Given the description of an element on the screen output the (x, y) to click on. 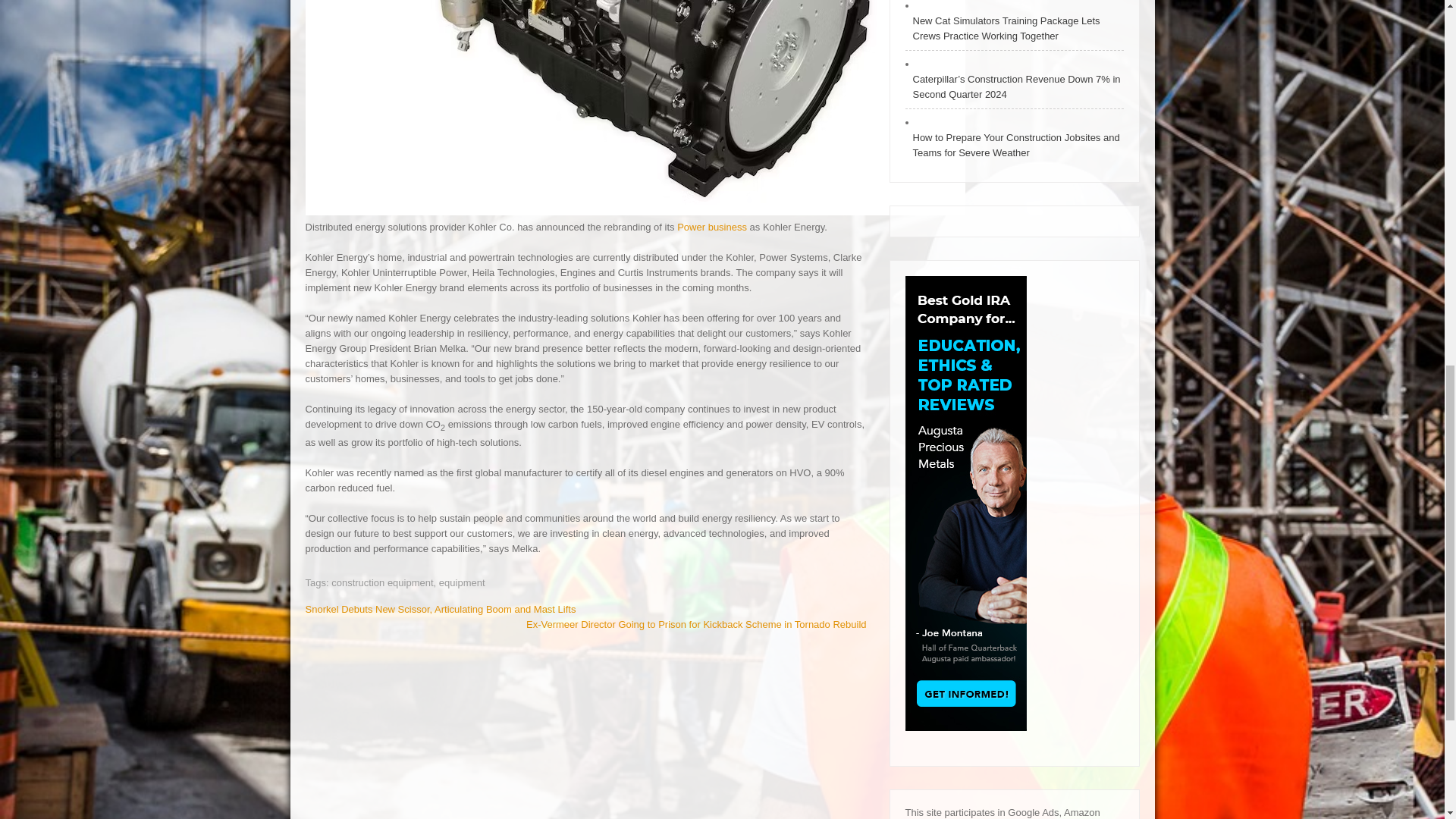
Snorkel Debuts New Scissor, Articulating Boom and Mast Lifts (439, 609)
Power business (711, 226)
construction equipment (381, 582)
equipment (461, 582)
